Given the description of an element on the screen output the (x, y) to click on. 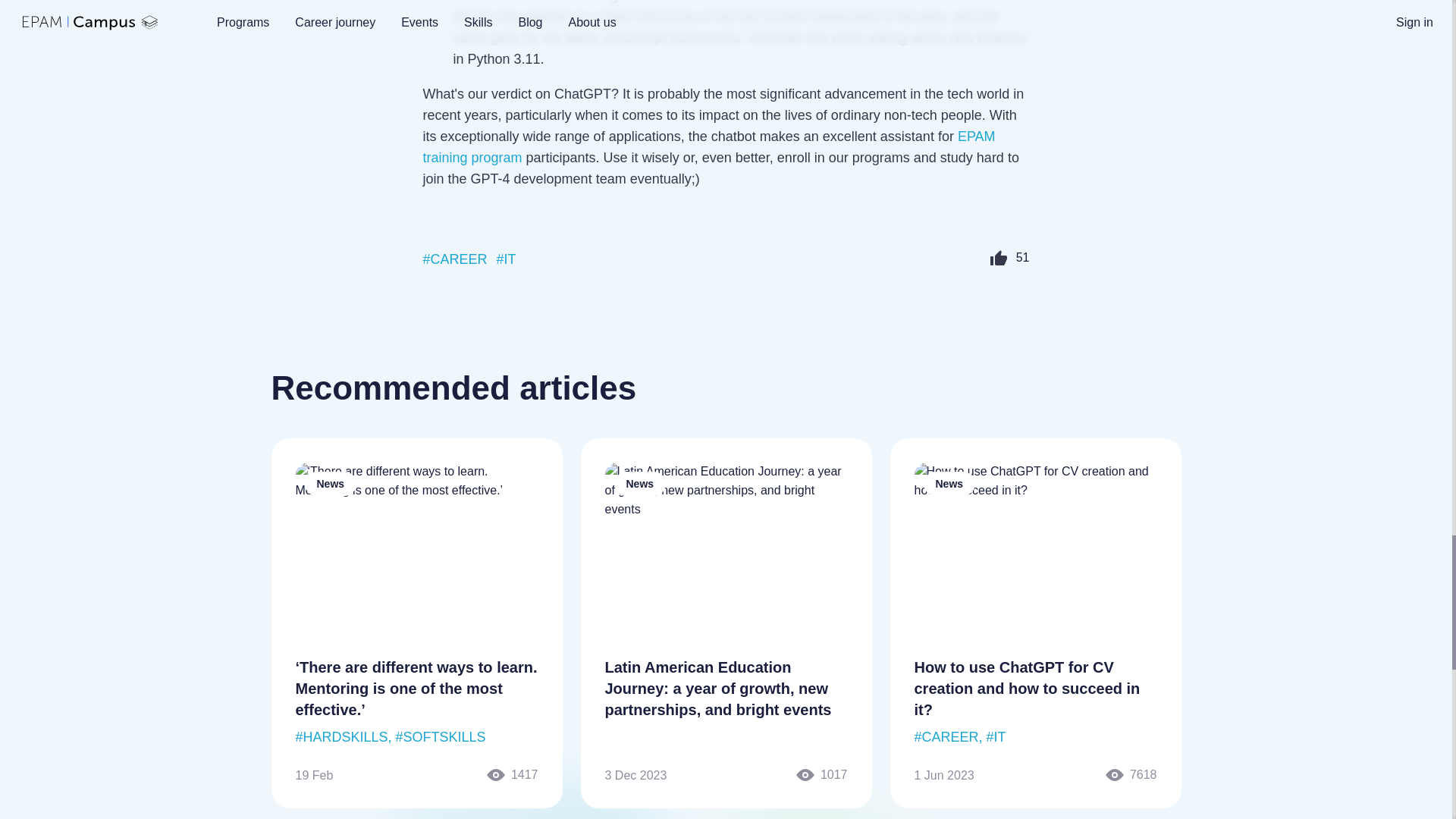
EPAM training program (709, 146)
